Given the description of an element on the screen output the (x, y) to click on. 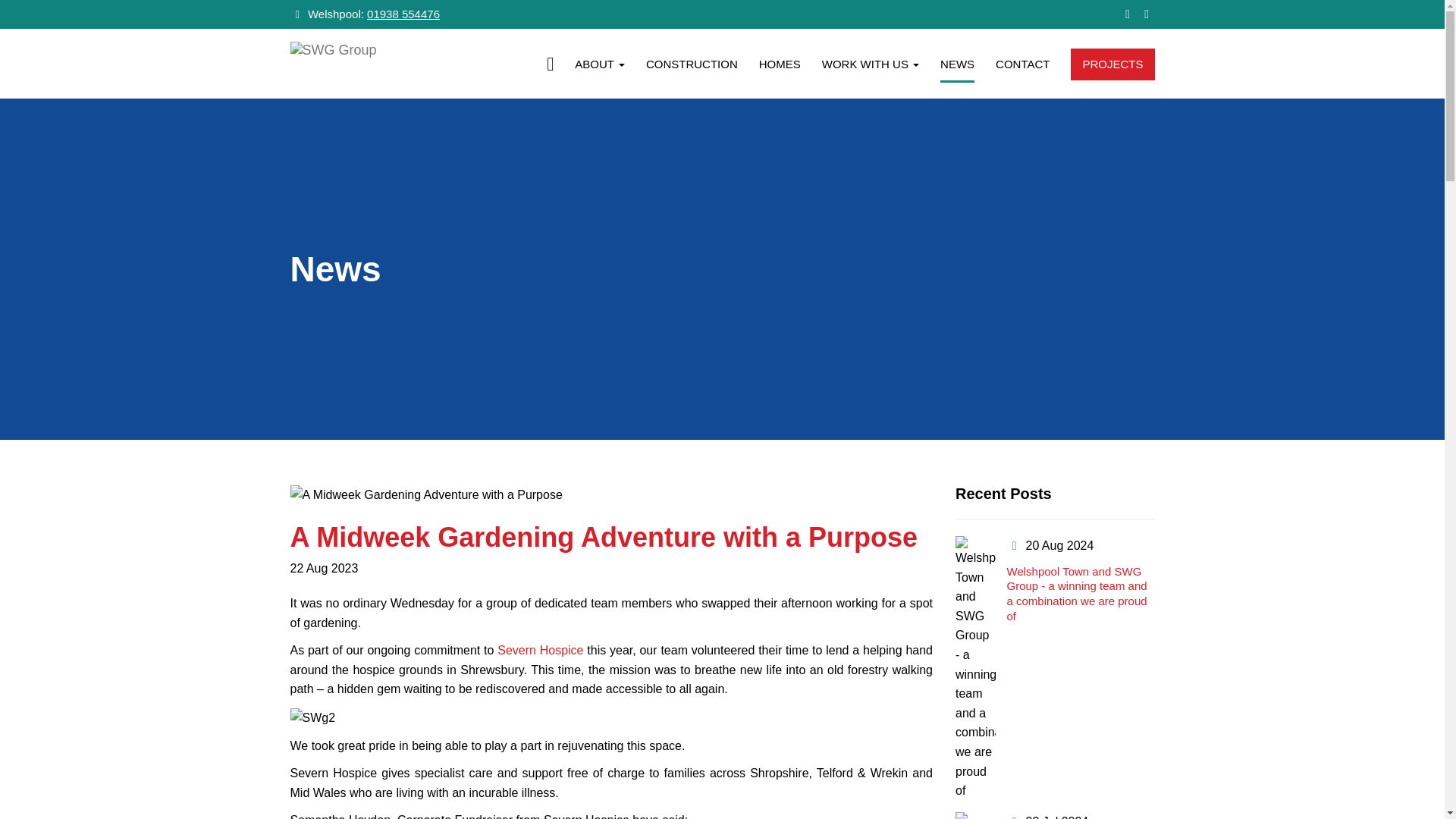
SWG Twitter (1127, 13)
ABOUT (599, 68)
Severn Hospice (540, 649)
SWG LinkedIn (1146, 13)
01938 554476 (402, 13)
HOMES (779, 68)
CONTACT (1022, 68)
NEWS (957, 69)
PROJECTS (1112, 64)
